Given the description of an element on the screen output the (x, y) to click on. 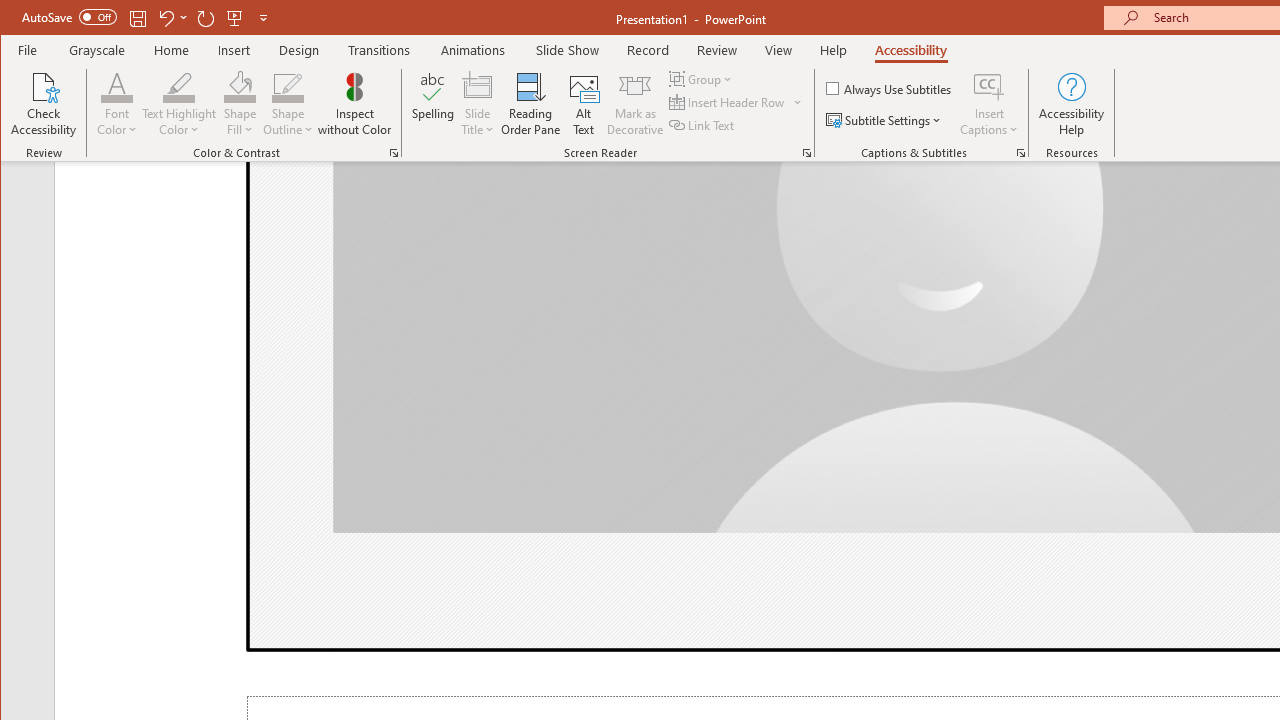
Screen Reader (806, 152)
